Given the description of an element on the screen output the (x, y) to click on. 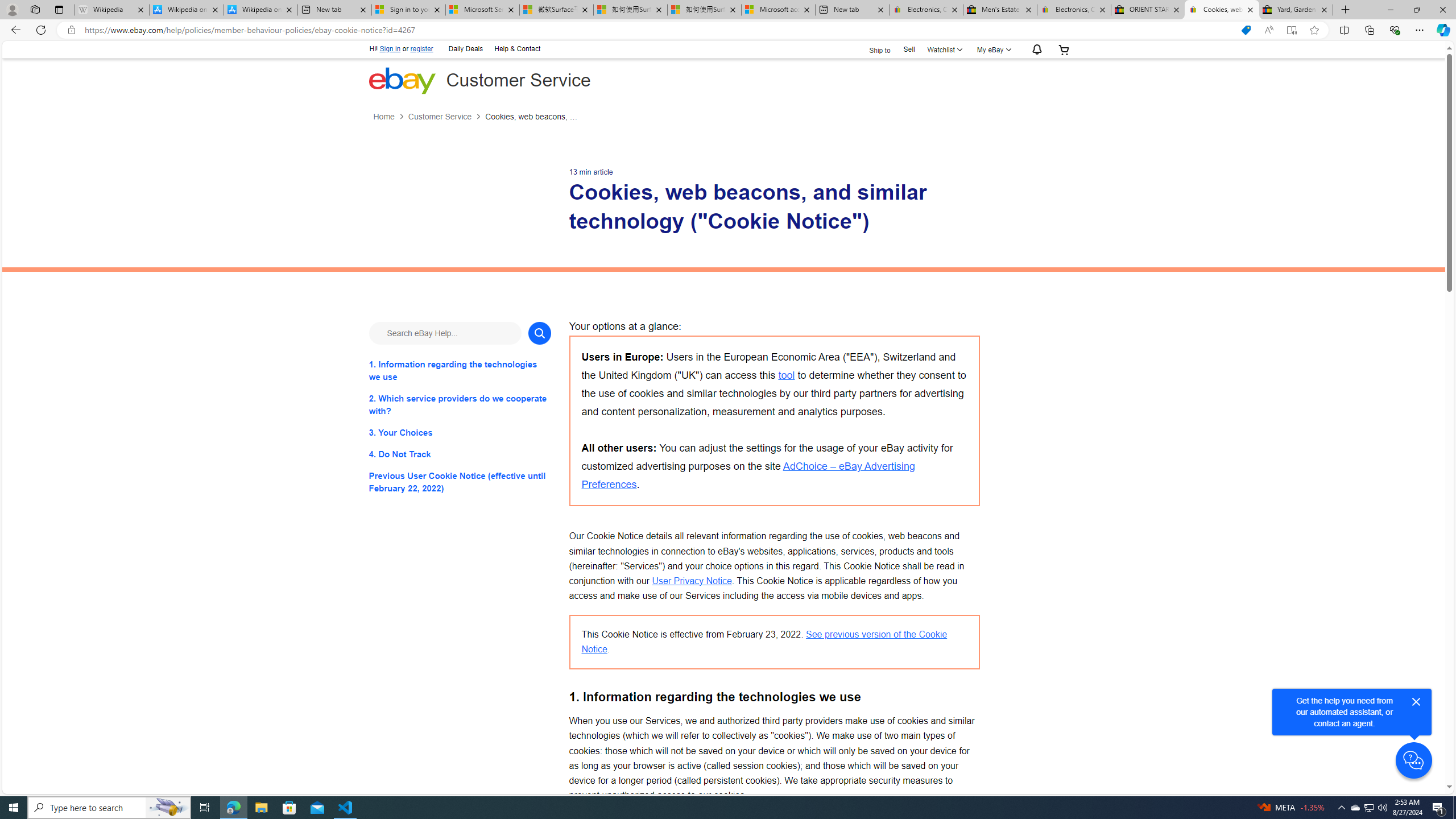
Wikipedia - Sleeping (111, 9)
2. Which service providers do we cooperate with? (459, 404)
register (421, 49)
WatchlistExpand Watch List (943, 49)
2. Which service providers do we cooperate with? (459, 404)
4. Do Not Track (459, 453)
1. Information regarding the technologies we use (459, 370)
